Given the description of an element on the screen output the (x, y) to click on. 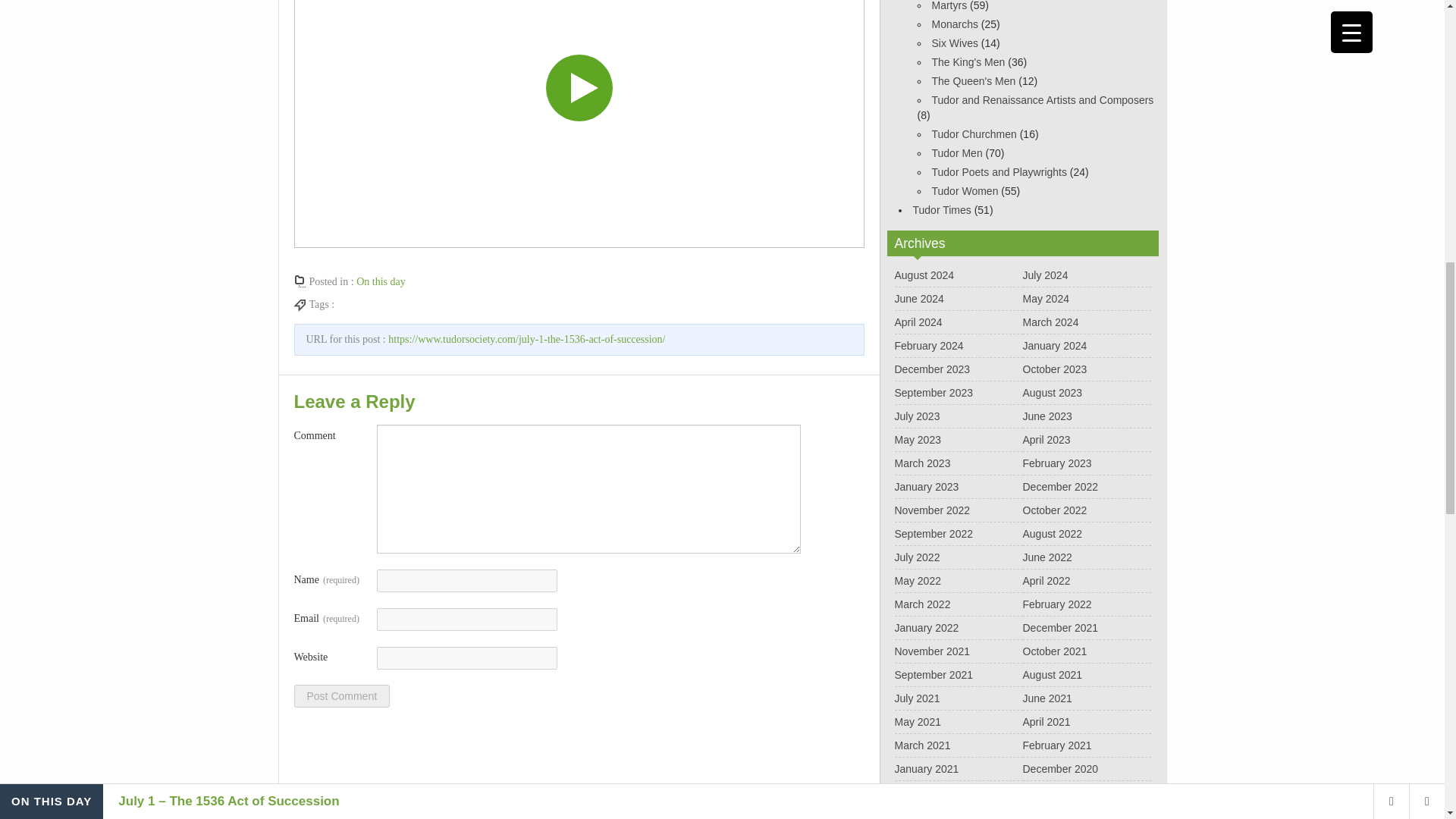
On this day (381, 281)
Post Comment (342, 695)
Post Comment (342, 695)
